Given the description of an element on the screen output the (x, y) to click on. 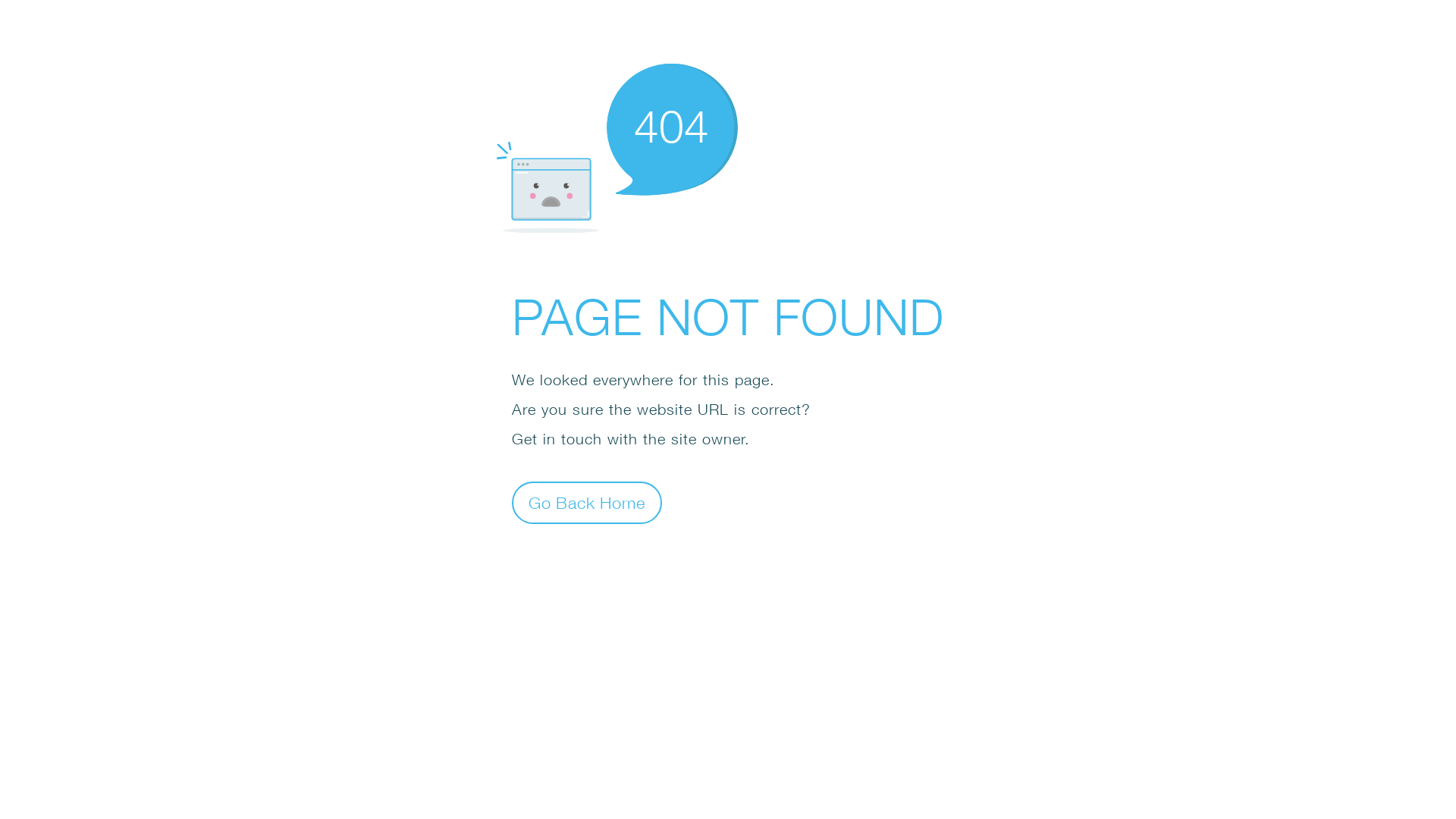
Go Back Home Element type: text (586, 502)
